Given the description of an element on the screen output the (x, y) to click on. 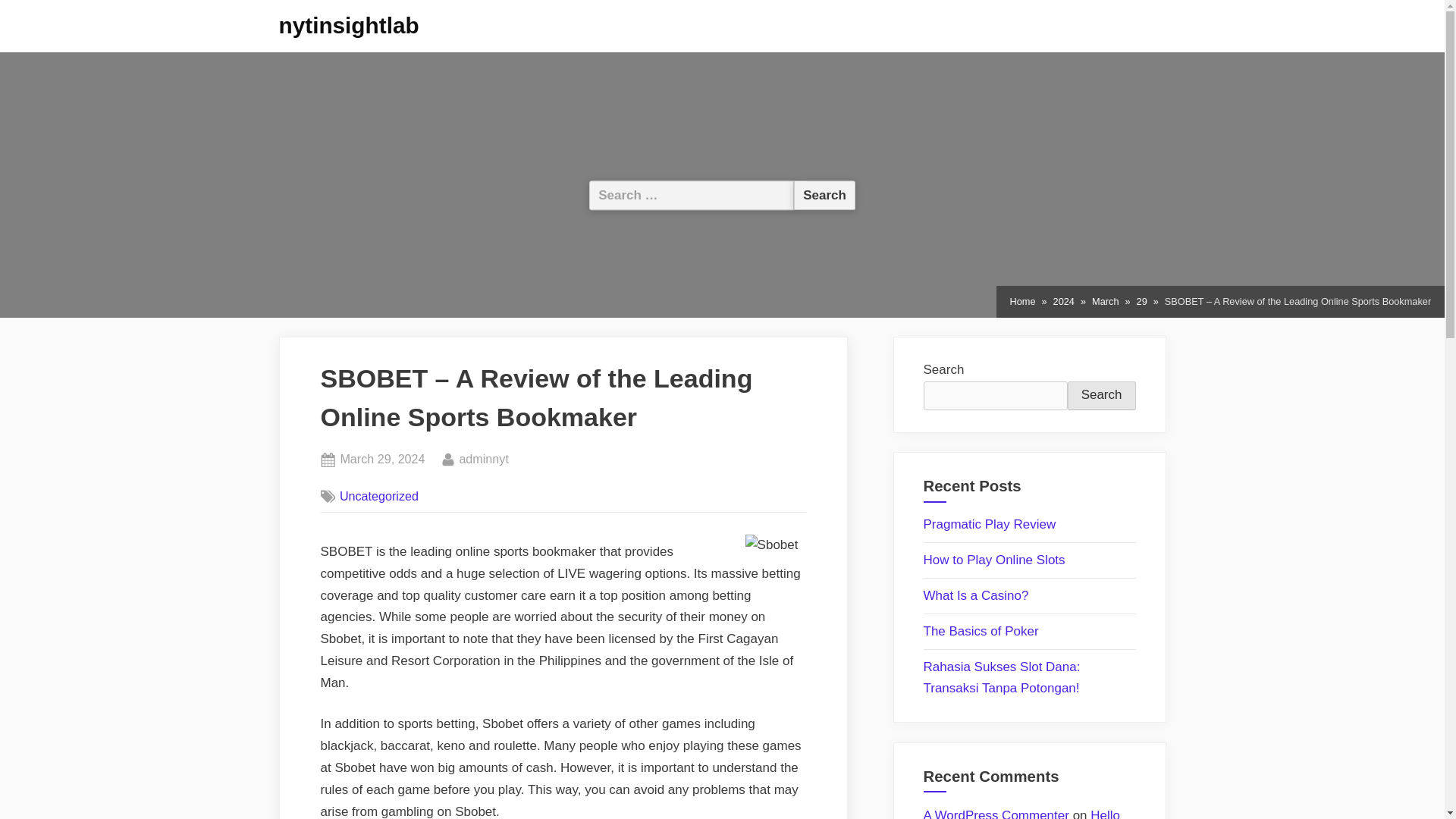
Home (1022, 301)
Uncategorized (379, 495)
Search (824, 194)
What Is a Casino? (976, 595)
nytinsightlab (382, 459)
Search (349, 25)
Search (824, 194)
The Basics of Poker (483, 459)
March (1101, 395)
A WordPress Commenter (981, 631)
2024 (1105, 301)
Rahasia Sukses Slot Dana: Transaksi Tanpa Potongan! (995, 813)
Hello world! (1063, 301)
